Given the description of an element on the screen output the (x, y) to click on. 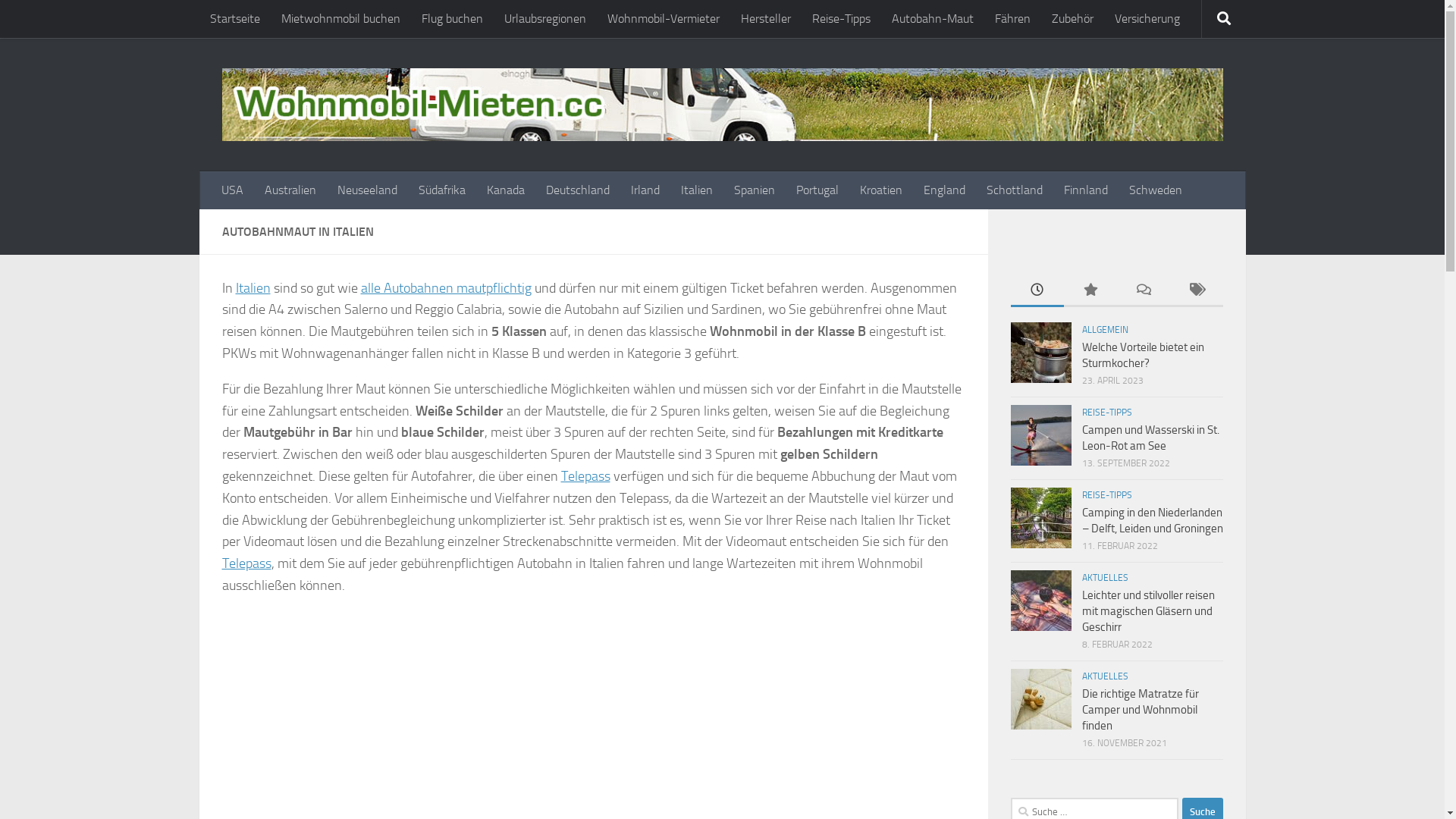
Spanien Element type: text (754, 190)
Campen und Wasserski in St. Leon-Rot am See Element type: text (1149, 437)
Neuseeland Element type: text (366, 190)
Wohnmobil-Mieten.cc | Startseite Element type: hover (721, 104)
Telepass Element type: text (245, 563)
Australien Element type: text (289, 190)
Wohnmobil-Vermieter Element type: text (662, 18)
AKTUELLES Element type: text (1104, 676)
AKTUELLES Element type: text (1104, 577)
England Element type: text (944, 190)
REISE-TIPPS Element type: text (1106, 494)
Irland Element type: text (645, 190)
Finnland Element type: text (1084, 190)
Portugal Element type: text (817, 190)
Urlaubsregionen Element type: text (544, 18)
USA Element type: text (232, 190)
REISE-TIPPS Element type: text (1106, 412)
alle Autobahnen mautpflichtig Element type: text (445, 287)
Schweden Element type: text (1154, 190)
Autobahn-Maut Element type: text (932, 18)
ALLGEMEIN Element type: text (1104, 329)
Flug buchen Element type: text (452, 18)
Schottland Element type: text (1013, 190)
Kroatien Element type: text (881, 190)
Mietwohnmobil buchen Element type: text (339, 18)
Italien Element type: text (252, 287)
Startseite Element type: text (233, 18)
Reise-Tipps Element type: text (840, 18)
Kanada Element type: text (505, 190)
Telepass Element type: text (585, 475)
Hersteller Element type: text (764, 18)
Italien Element type: text (696, 190)
Versicherung Element type: text (1147, 18)
Zum Inhalt springen Element type: text (73, 21)
Deutschland Element type: text (577, 190)
Welche Vorteile bietet ein Sturmkocher? Element type: text (1142, 355)
